Given the description of an element on the screen output the (x, y) to click on. 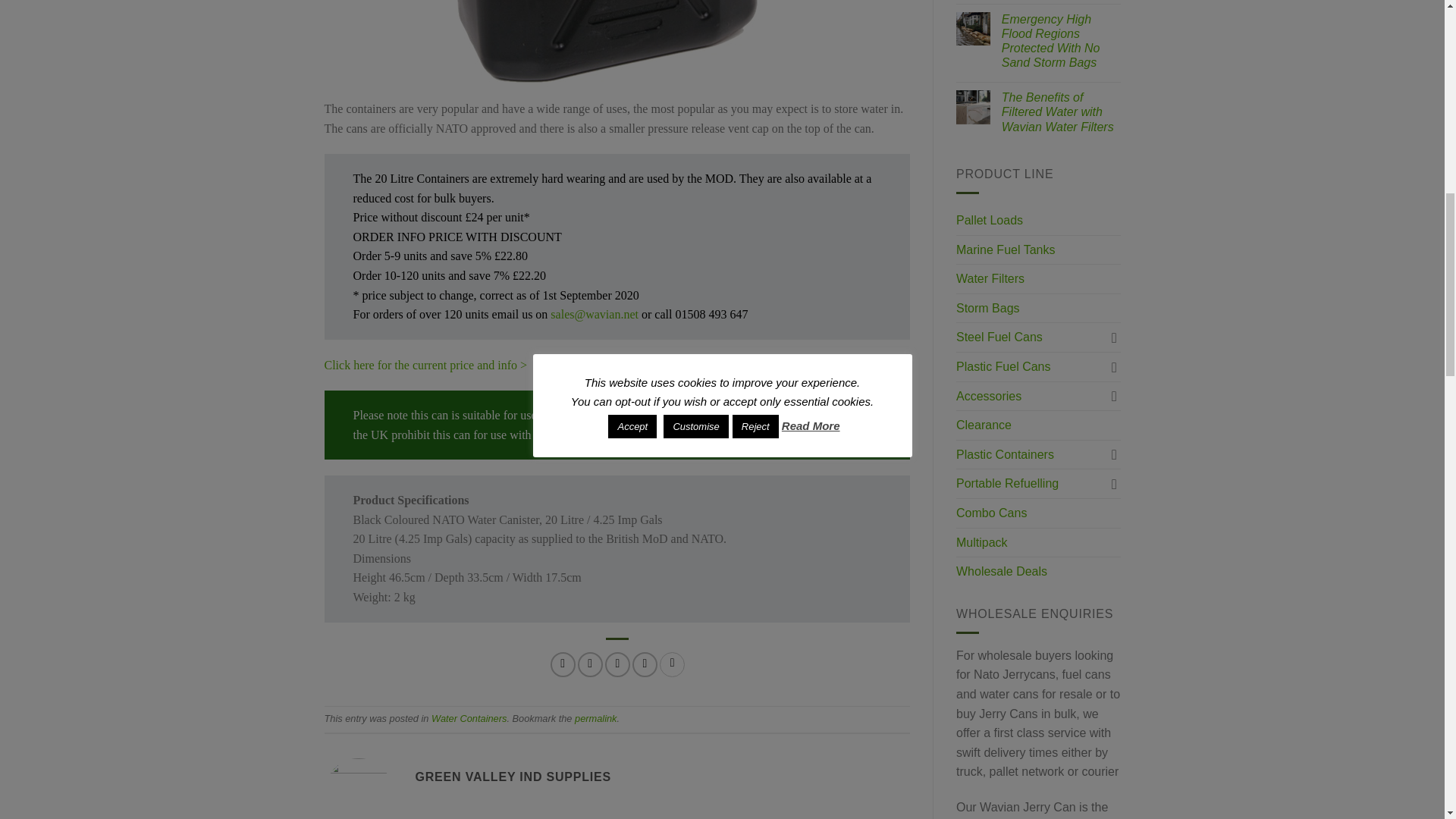
Share on LinkedIn (671, 664)
Share on Facebook (562, 664)
Email to a Friend (617, 664)
Are Jerry Cans legal? What is the law on fuel cans? (709, 434)
Share on Twitter (590, 664)
Pin on Pinterest (644, 664)
